Given the description of an element on the screen output the (x, y) to click on. 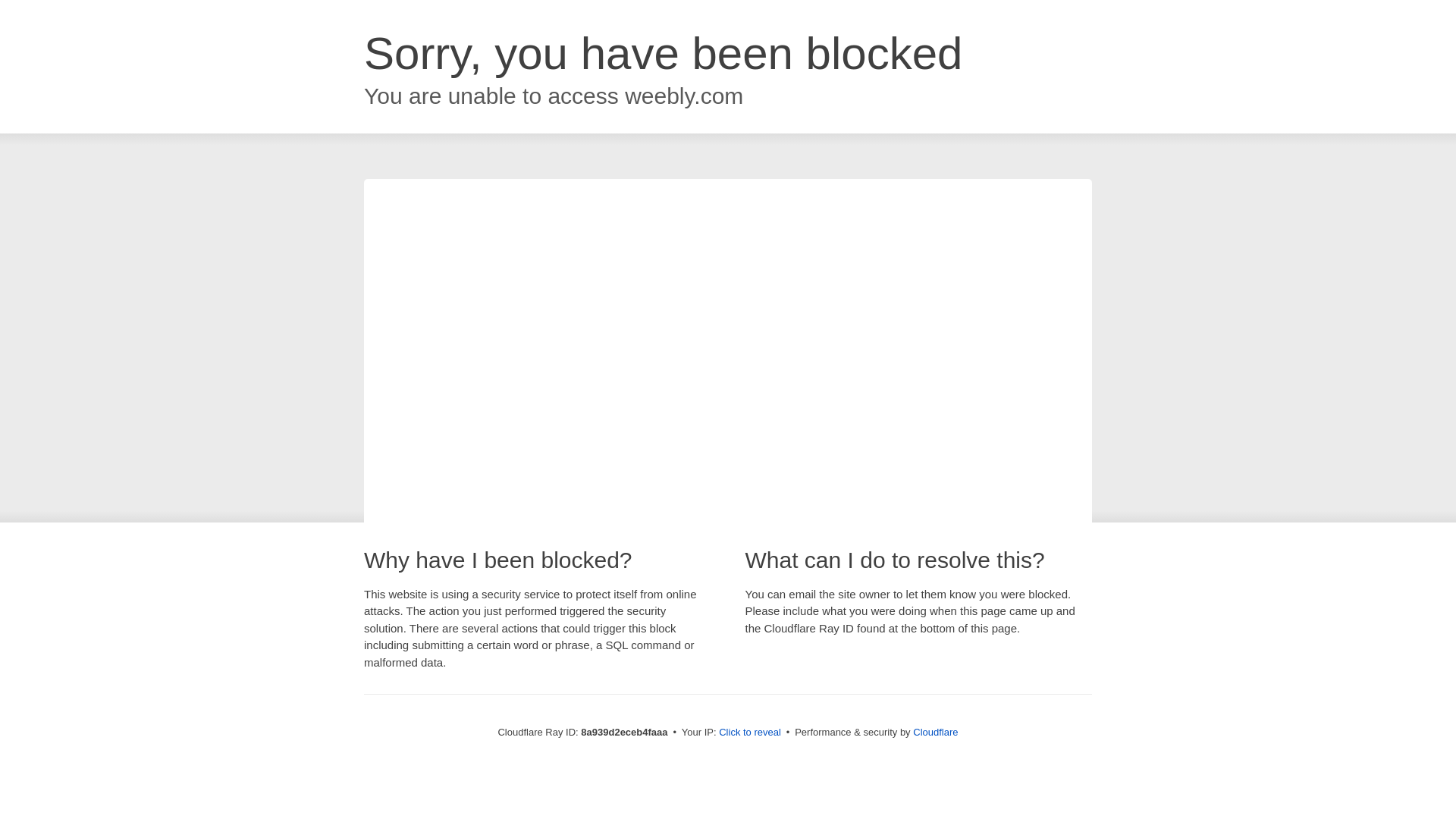
Click to reveal (749, 732)
Cloudflare (935, 731)
